Given the description of an element on the screen output the (x, y) to click on. 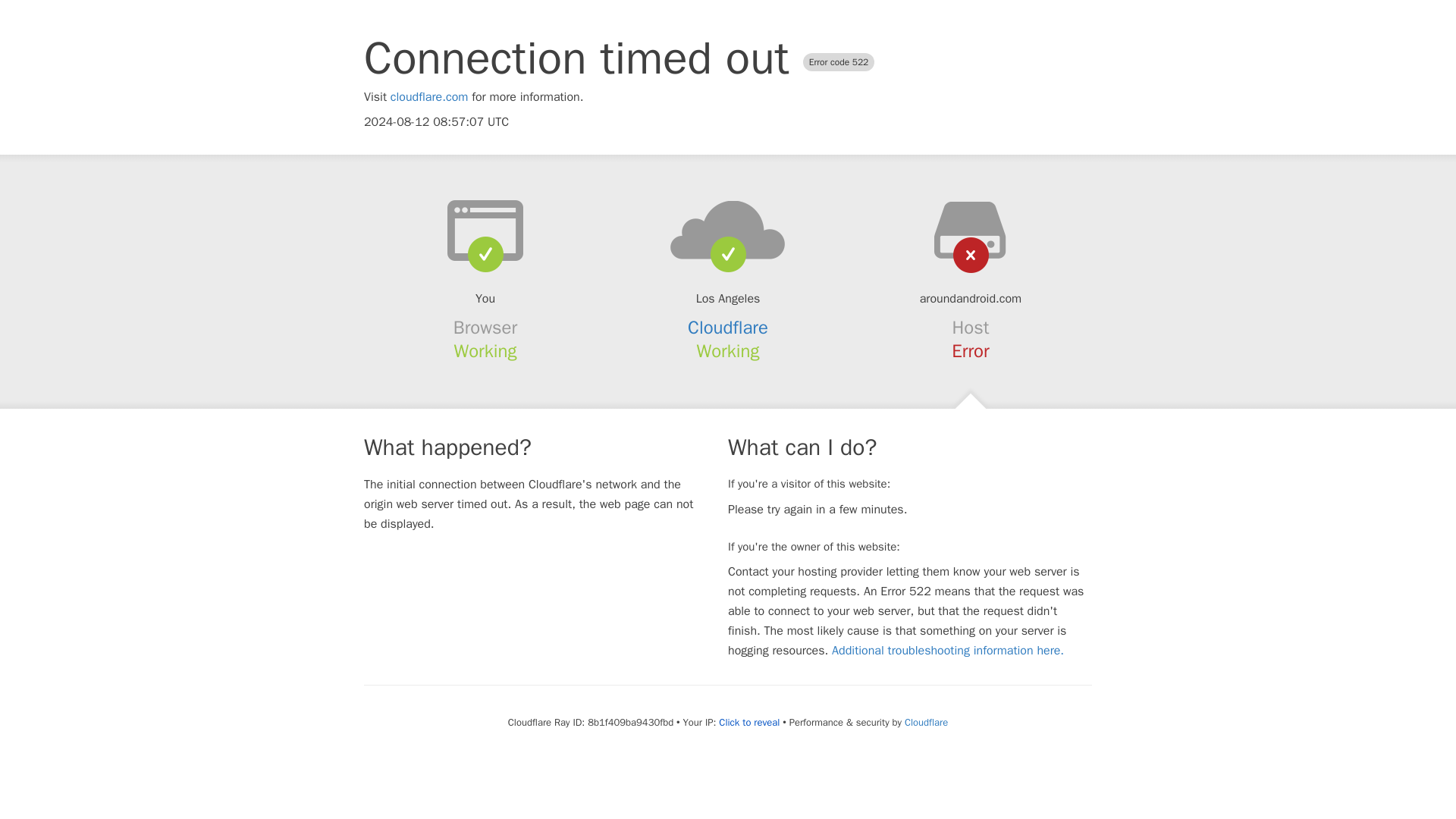
Cloudflare (727, 327)
Cloudflare (925, 721)
cloudflare.com (429, 96)
Click to reveal (748, 722)
Additional troubleshooting information here. (947, 650)
